Given the description of an element on the screen output the (x, y) to click on. 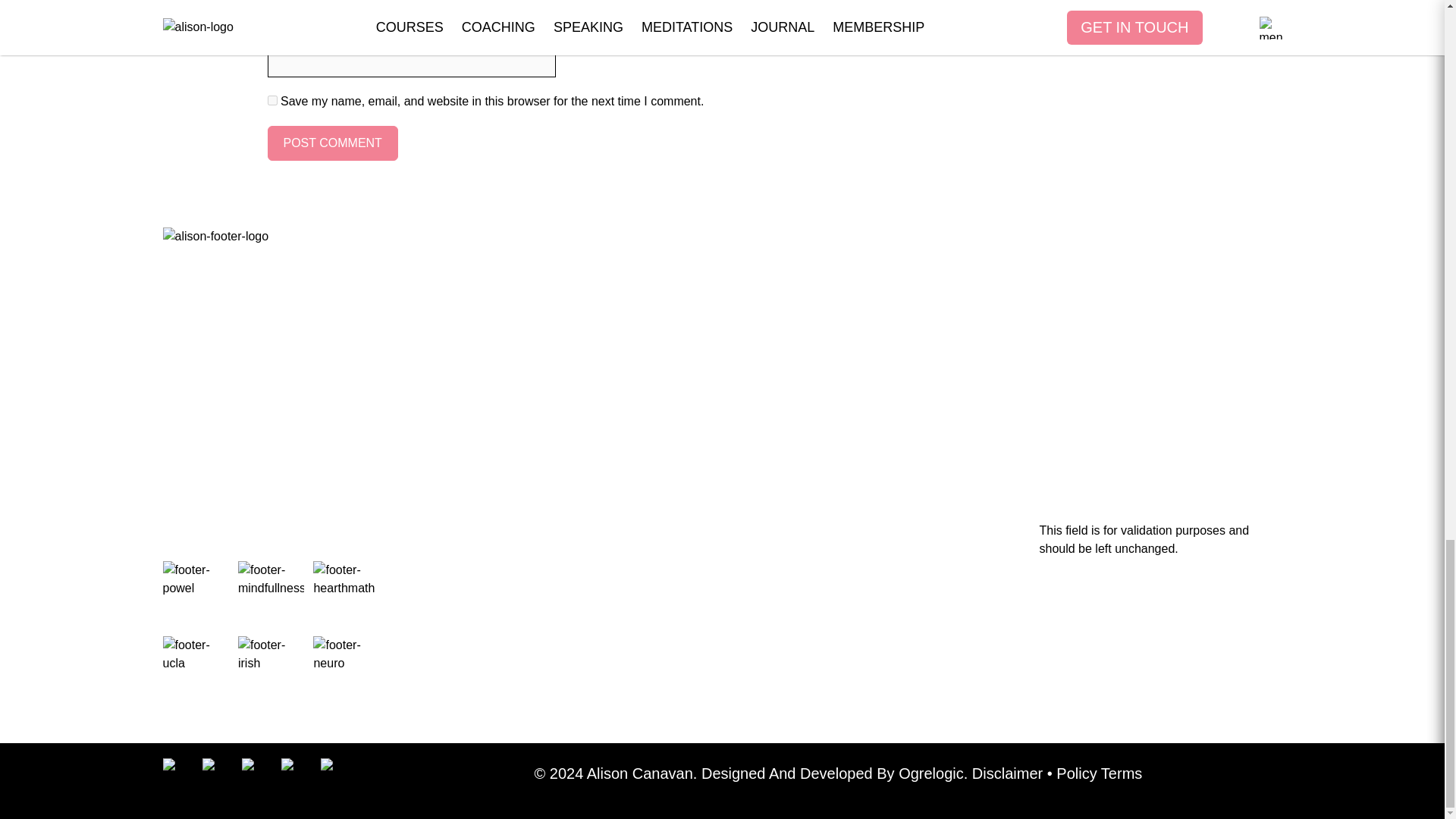
Submit (648, 591)
Post Comment (331, 143)
yes (271, 100)
